Given the description of an element on the screen output the (x, y) to click on. 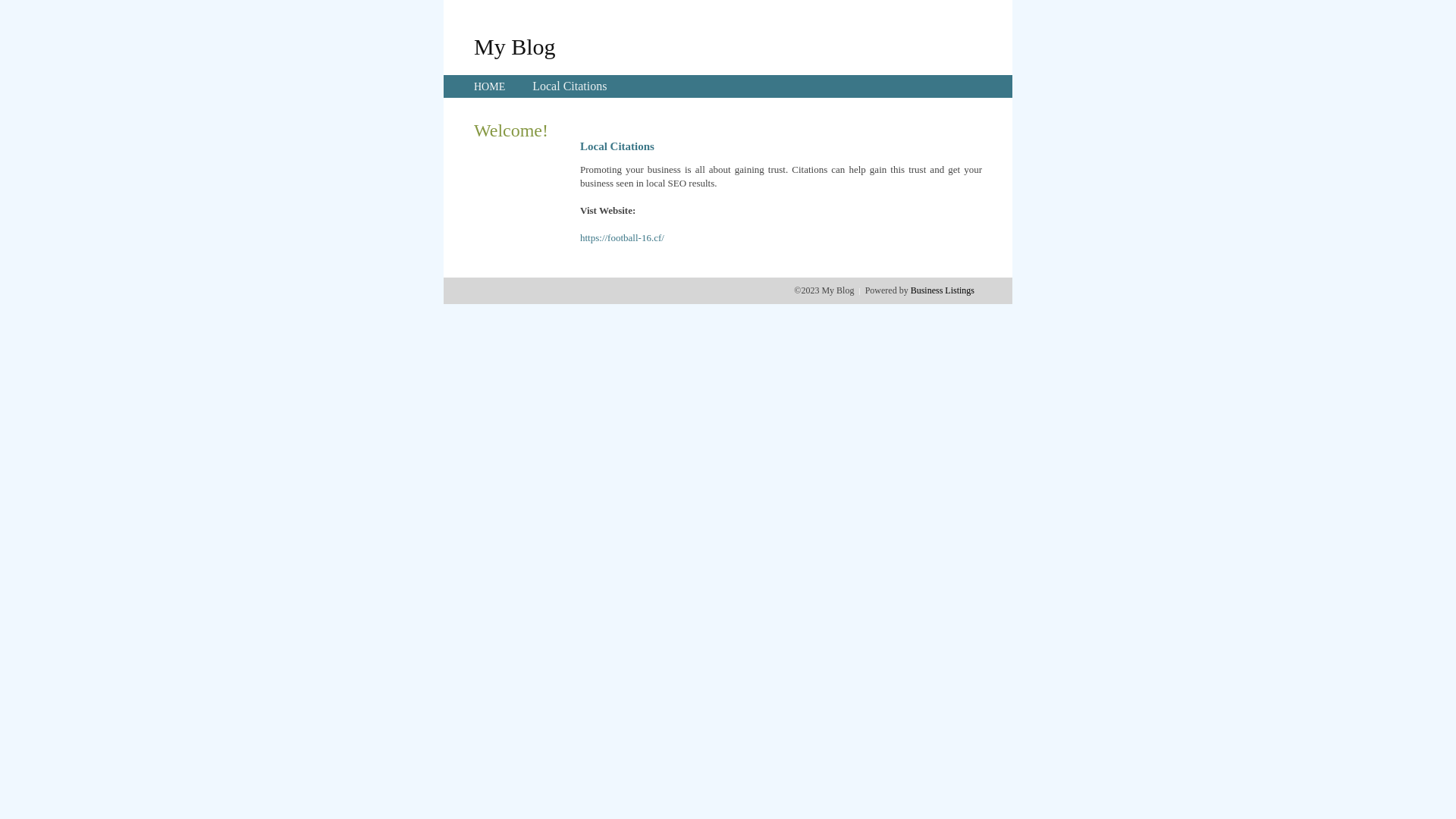
Local Citations Element type: text (569, 85)
https://football-16.cf/ Element type: text (622, 237)
HOME Element type: text (489, 86)
Business Listings Element type: text (942, 290)
My Blog Element type: text (514, 46)
